Given the description of an element on the screen output the (x, y) to click on. 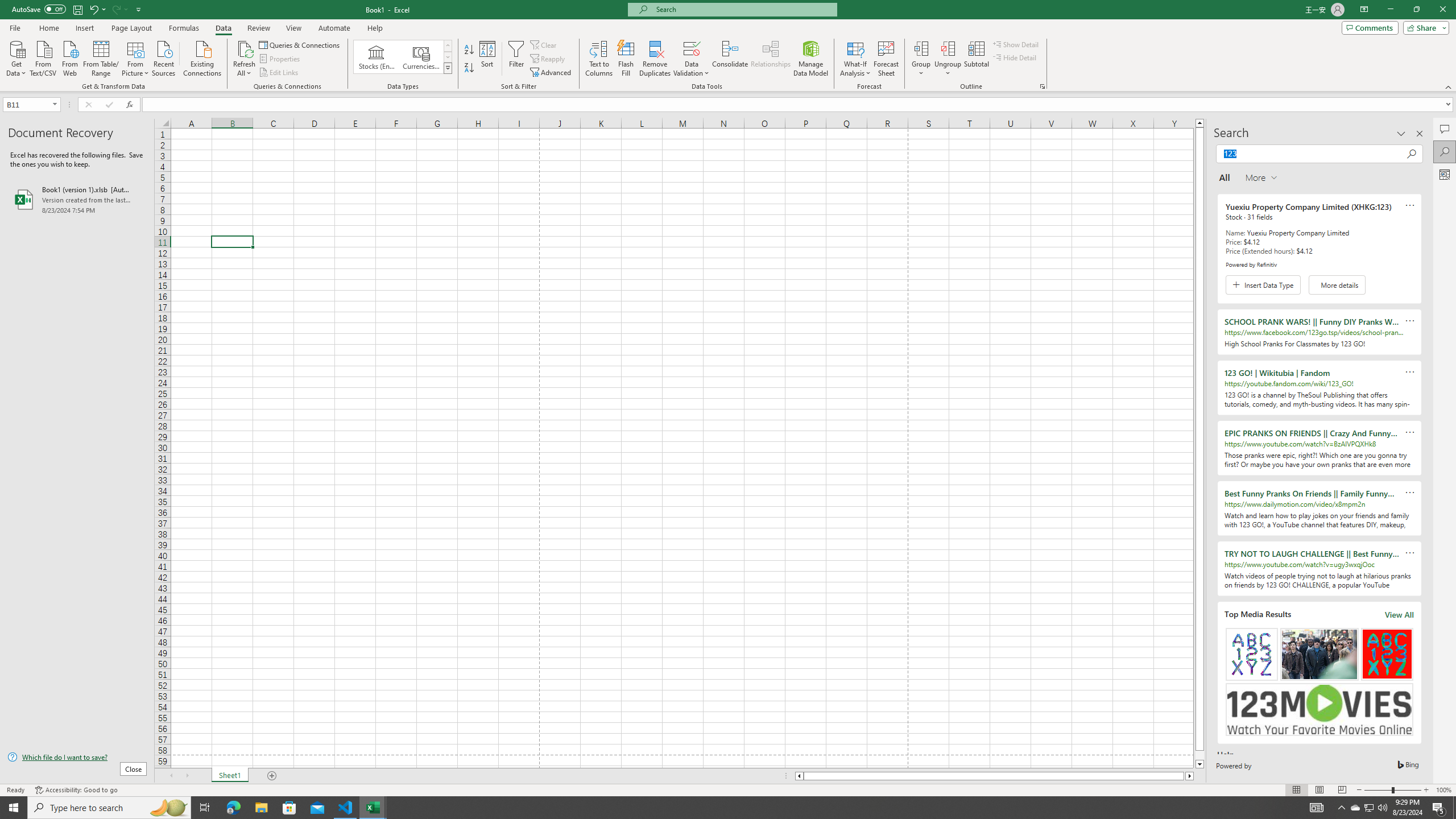
Sheet1 (229, 775)
Open (54, 104)
From Table/Range (100, 57)
Zoom In (1426, 790)
Share (1423, 27)
Restore Down (1416, 9)
Formulas (184, 28)
Existing Connections (202, 57)
Comments (1444, 128)
AutomationID: ConvertToLinkedEntity (403, 56)
Microsoft search (742, 9)
Zoom Out (1377, 790)
File Tab (15, 27)
Line down (1199, 764)
Insert (83, 28)
